Given the description of an element on the screen output the (x, y) to click on. 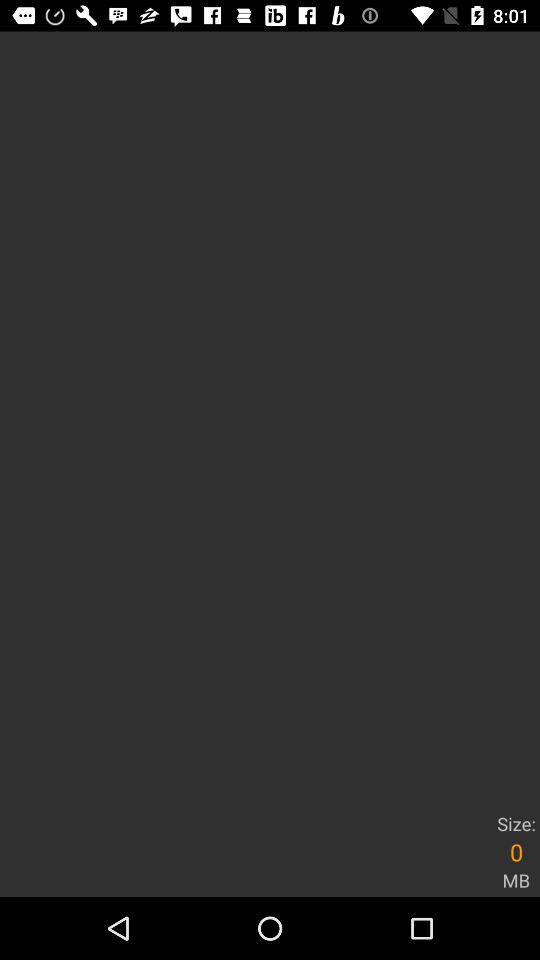
turn on the item above size: (270, 419)
